Given the description of an element on the screen output the (x, y) to click on. 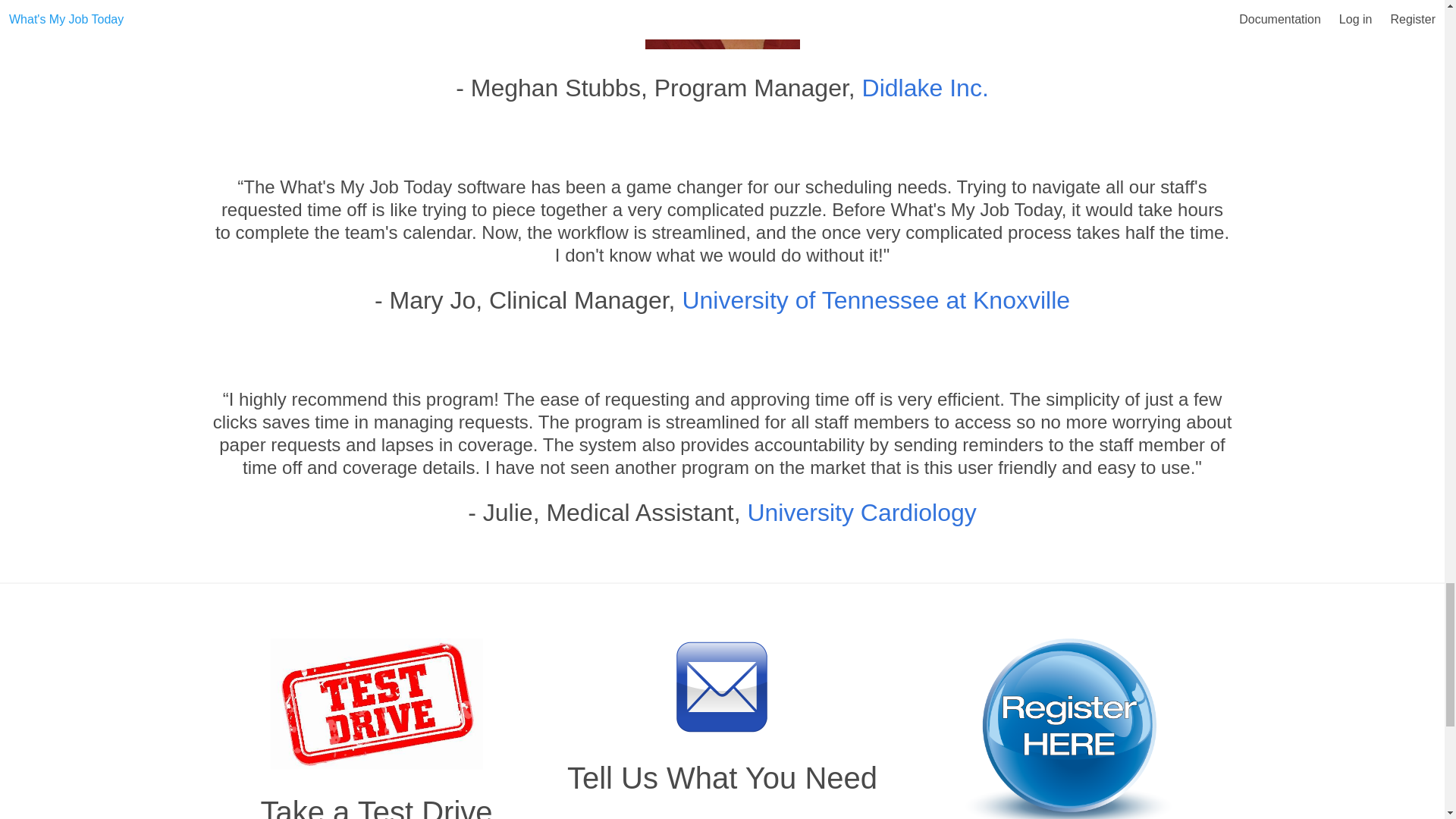
Didlake Inc. (924, 87)
University Cardiology (860, 512)
University of Tennessee at Knoxville (875, 299)
